Given the description of an element on the screen output the (x, y) to click on. 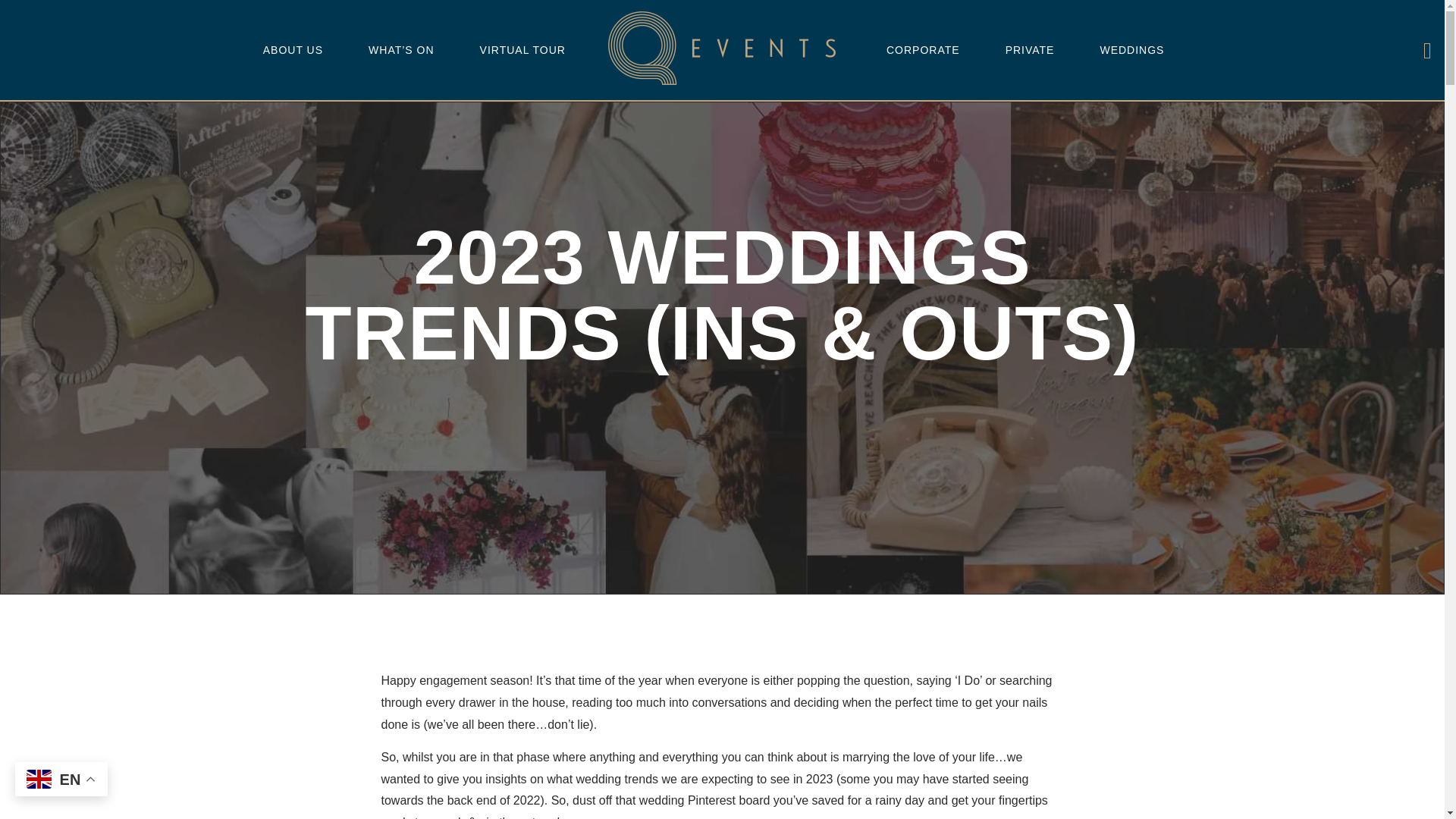
WEDDINGS (1131, 49)
VIRTUAL TOUR (522, 49)
PRIVATE (1029, 49)
CORPORATE (922, 49)
ABOUT US (293, 49)
